Given the description of an element on the screen output the (x, y) to click on. 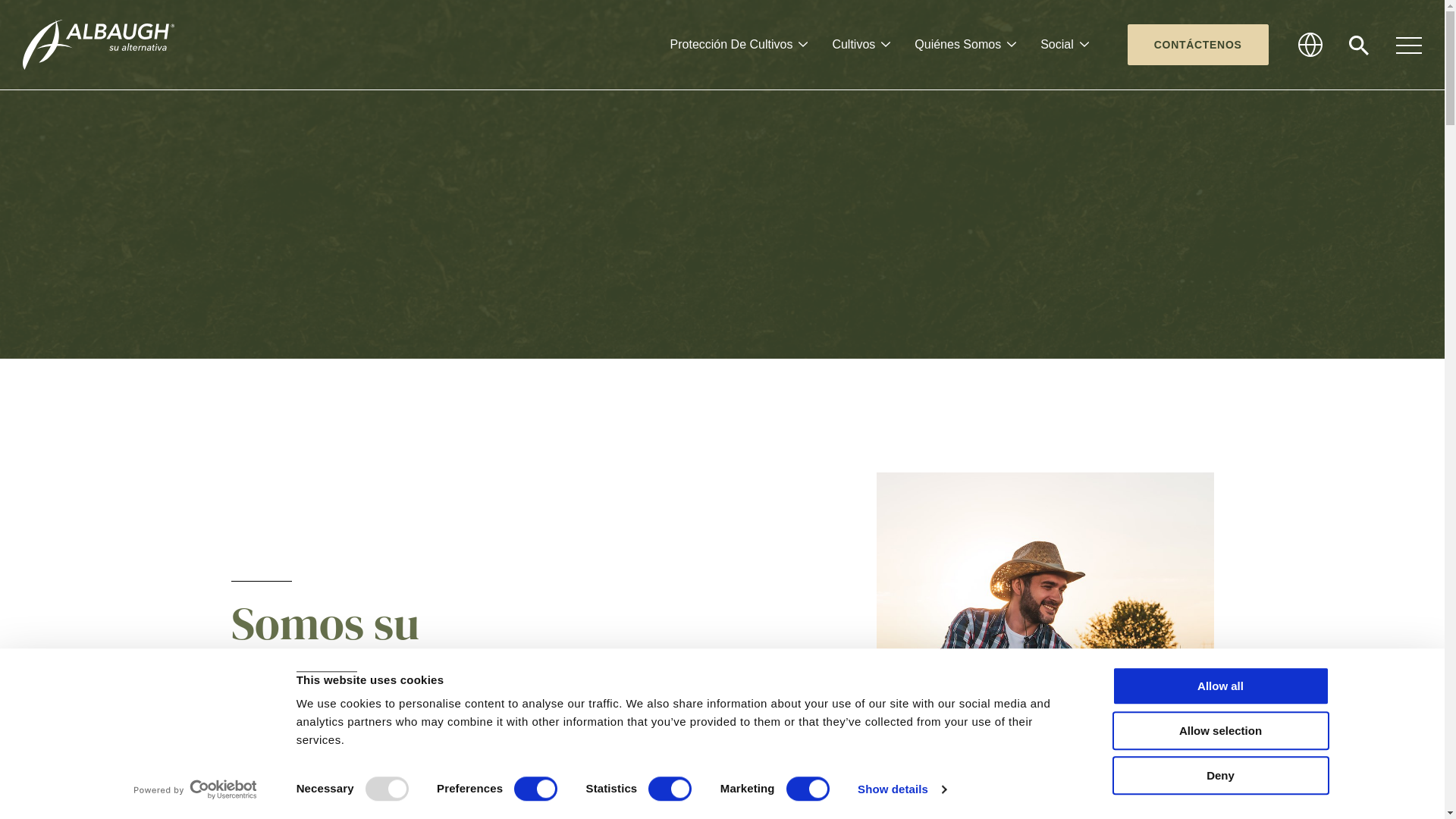
Deny Element type: text (1219, 775)
Click to search modal Element type: text (1359, 44)
Social Element type: text (1064, 44)
Directorio mundial Element type: hover (1323, 43)
Allow selection Element type: text (1219, 730)
Allow all Element type: text (1219, 685)
Cultivos Element type: text (860, 44)
logo-light Element type: hover (98, 44)
Show details Element type: text (901, 789)
